Given the description of an element on the screen output the (x, y) to click on. 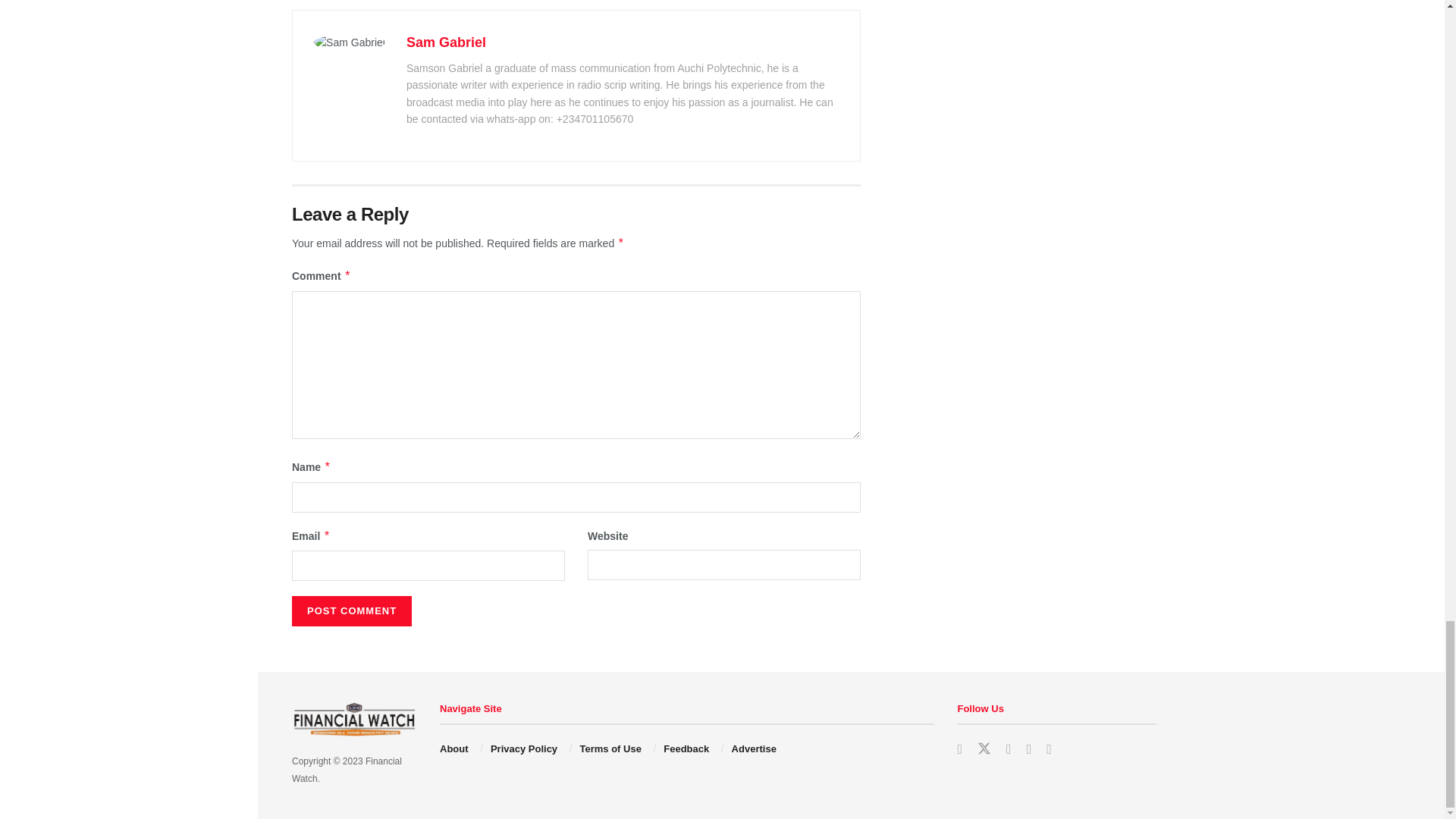
Post Comment (352, 611)
